Given the description of an element on the screen output the (x, y) to click on. 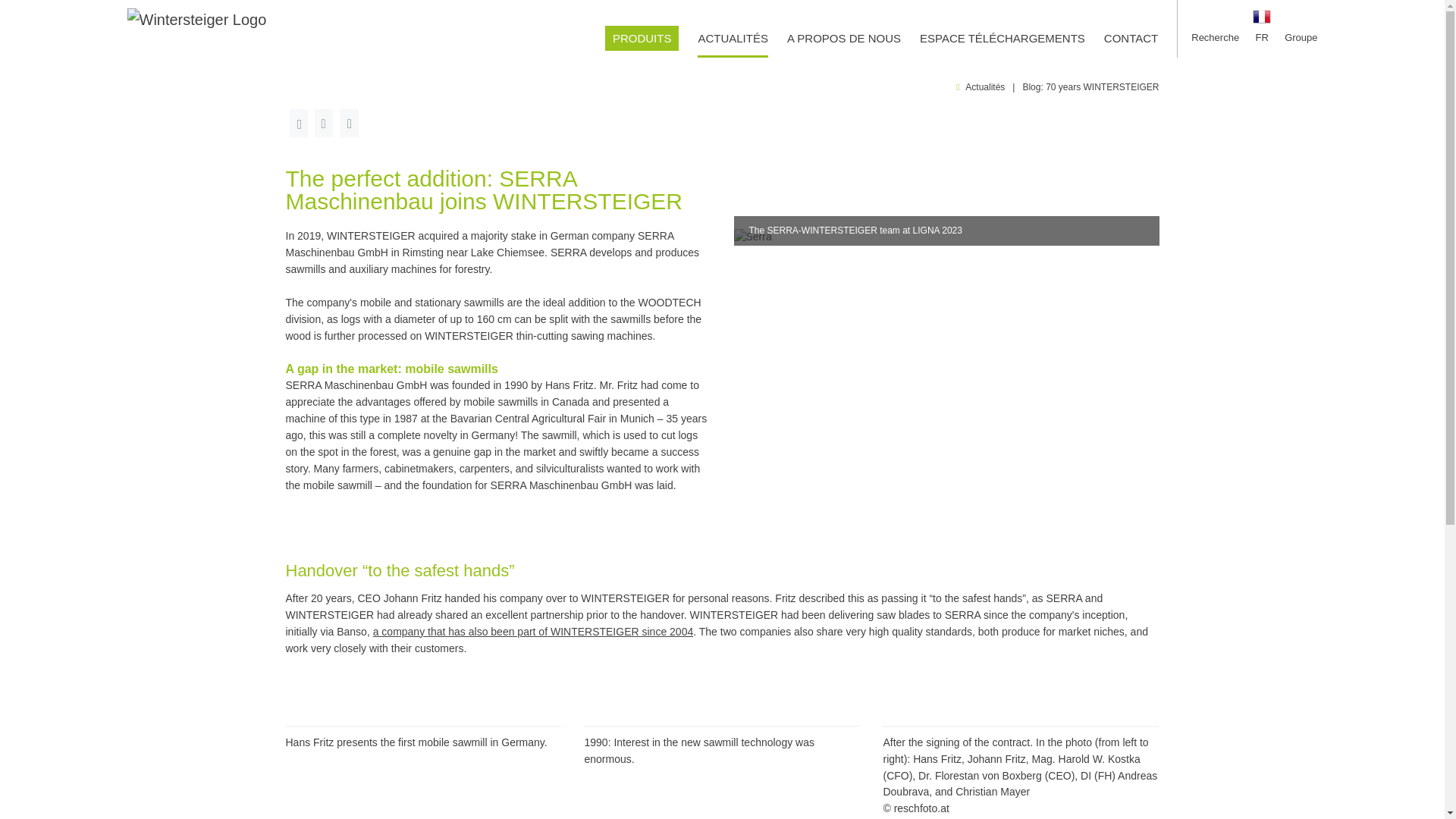
PRODUITS (642, 37)
